Given the description of an element on the screen output the (x, y) to click on. 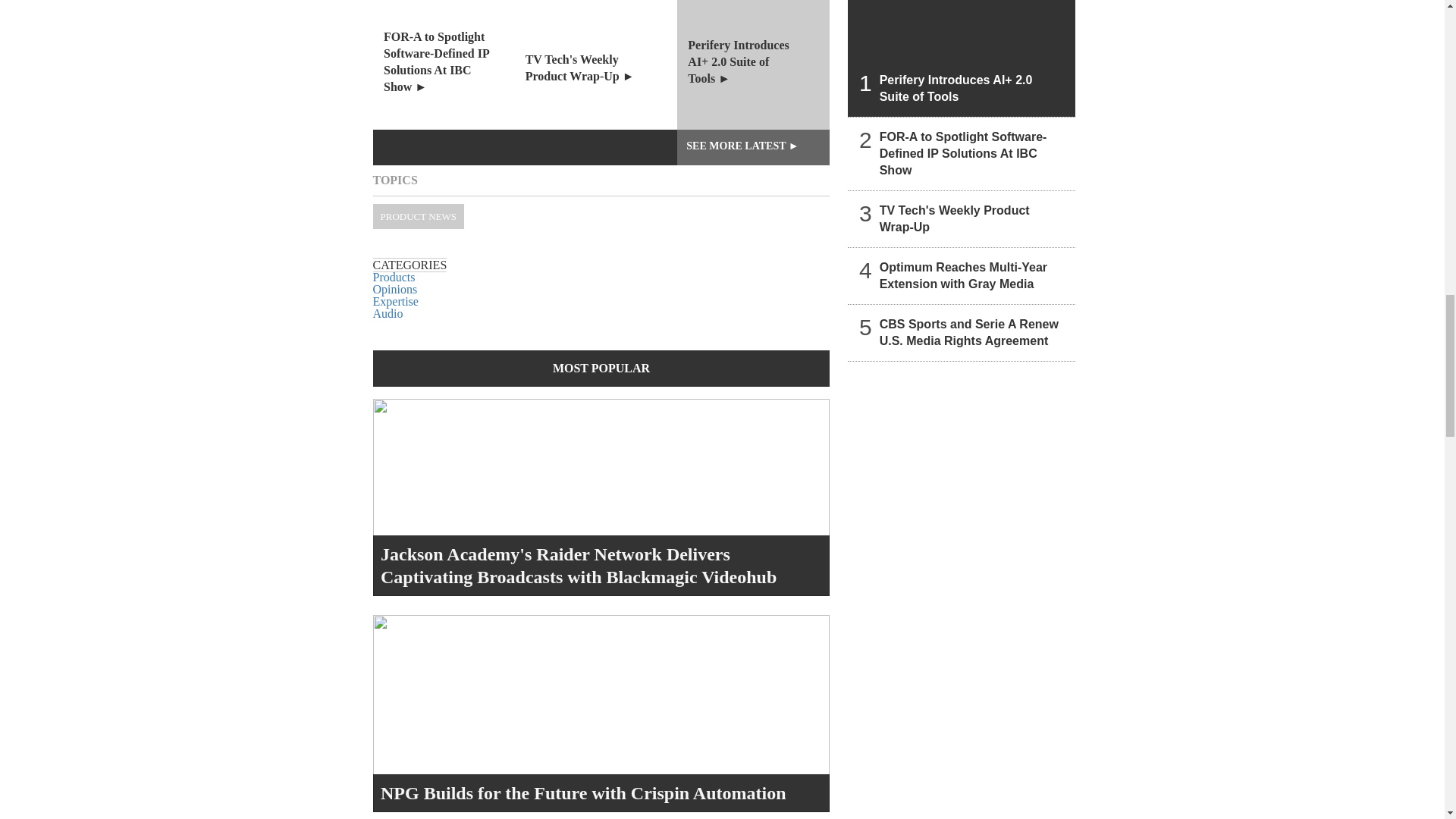
TV Tech's Weekly Product Wrap-Up (600, 64)
PRODUCT NEWS (418, 216)
Expertise (395, 300)
Products (393, 277)
Opinions (394, 288)
FOR-A to Spotlight Software-Defined IP Solutions At IBC Show (448, 64)
Audio (387, 313)
